Given the description of an element on the screen output the (x, y) to click on. 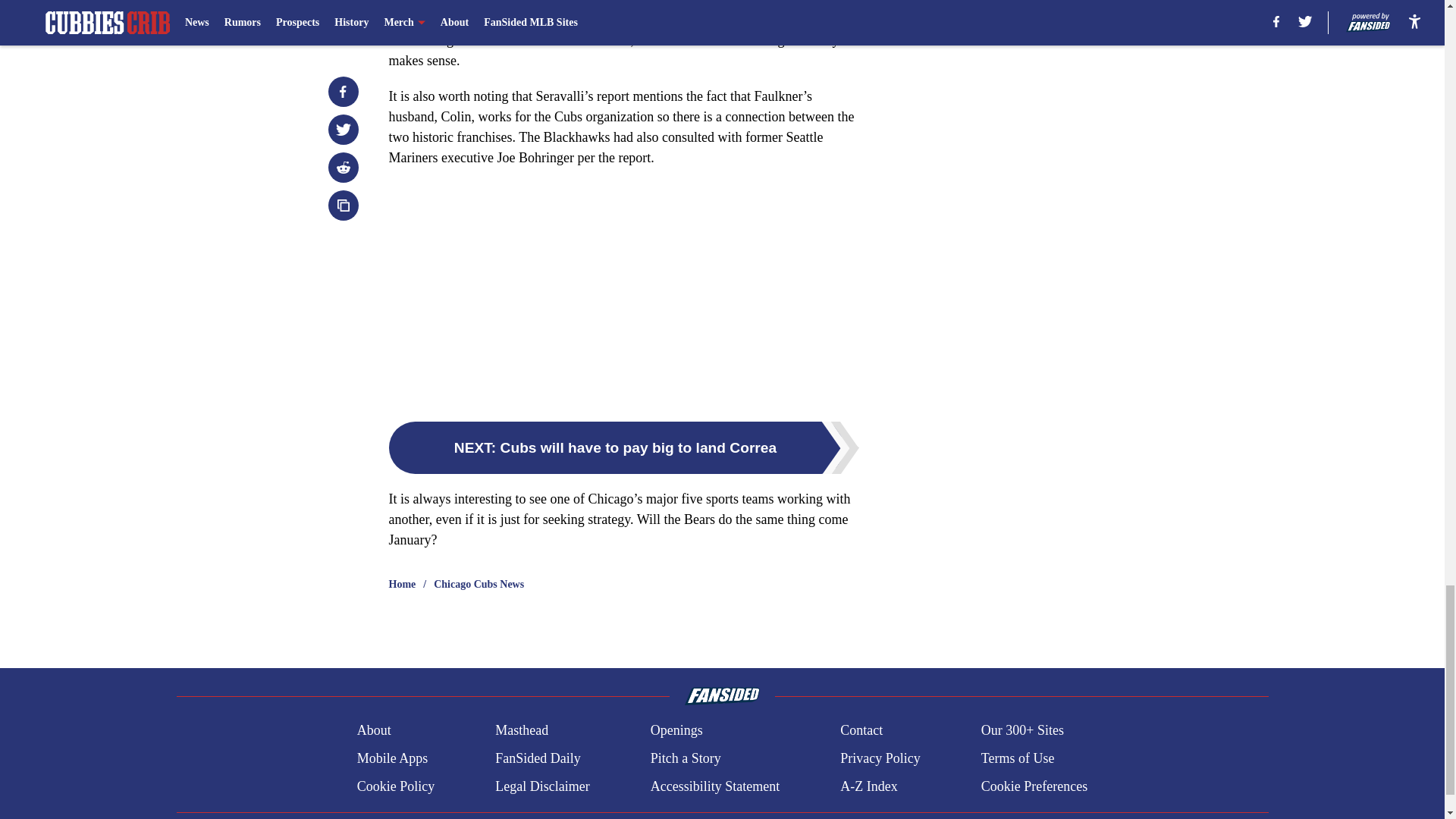
Mobile Apps (392, 758)
NEXT: Cubs will have to pay big to land Correa (623, 447)
Legal Disclaimer (542, 786)
Masthead (521, 730)
About (373, 730)
Terms of Use (1017, 758)
Openings (676, 730)
FanSided Daily (537, 758)
Chicago Cubs News (478, 584)
Privacy Policy (880, 758)
Home (401, 584)
Pitch a Story (685, 758)
Contact (861, 730)
Cookie Policy (395, 786)
